Given the description of an element on the screen output the (x, y) to click on. 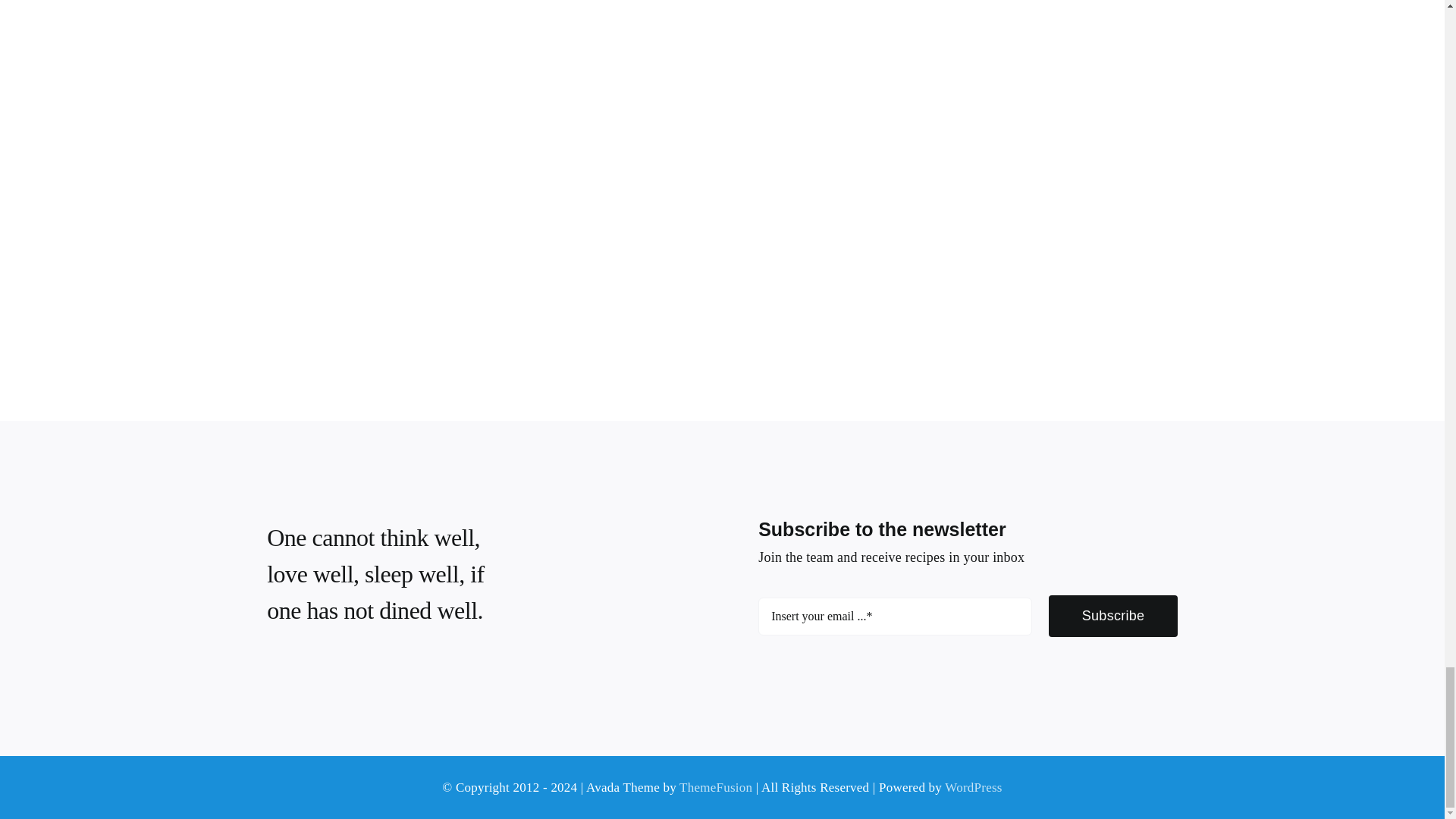
Subscribe (967, 624)
